Given the description of an element on the screen output the (x, y) to click on. 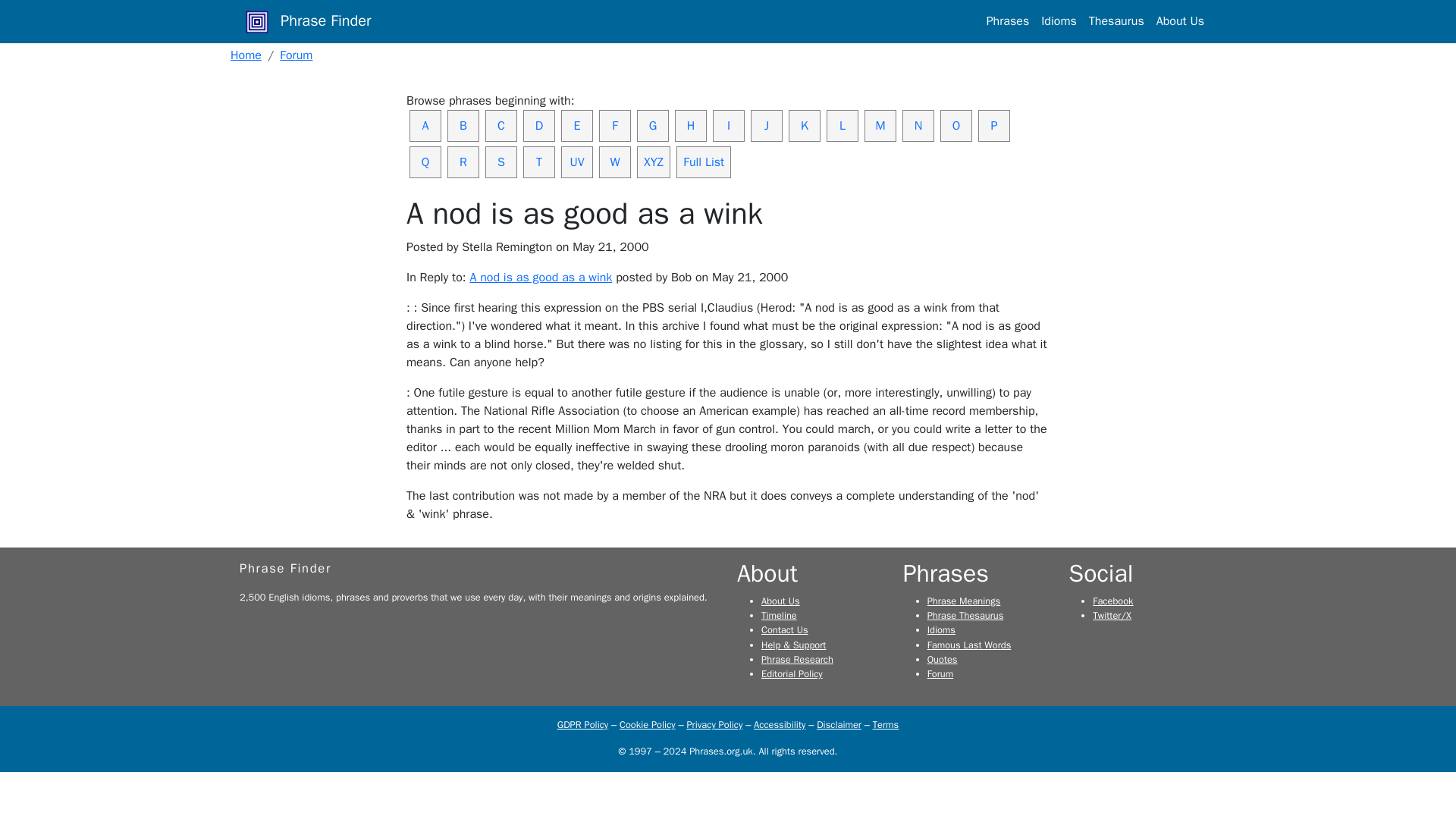
Sayings and idioms that begin with the letter M (880, 125)
Editorial Policy (791, 674)
XYZ (653, 162)
Sayings and idioms that begin with the letter H (690, 125)
A (425, 125)
B (462, 125)
Sayings and idioms that begin with the letter S (500, 162)
Sayings and idioms that begin with the letter T (538, 162)
Sayings and idioms that begin with the letter L (843, 125)
Sayings and idioms that begin with the letter C (500, 125)
I (728, 125)
Timeline (778, 615)
N (918, 125)
Phrase Finder (285, 568)
Contact Us (784, 630)
